Given the description of an element on the screen output the (x, y) to click on. 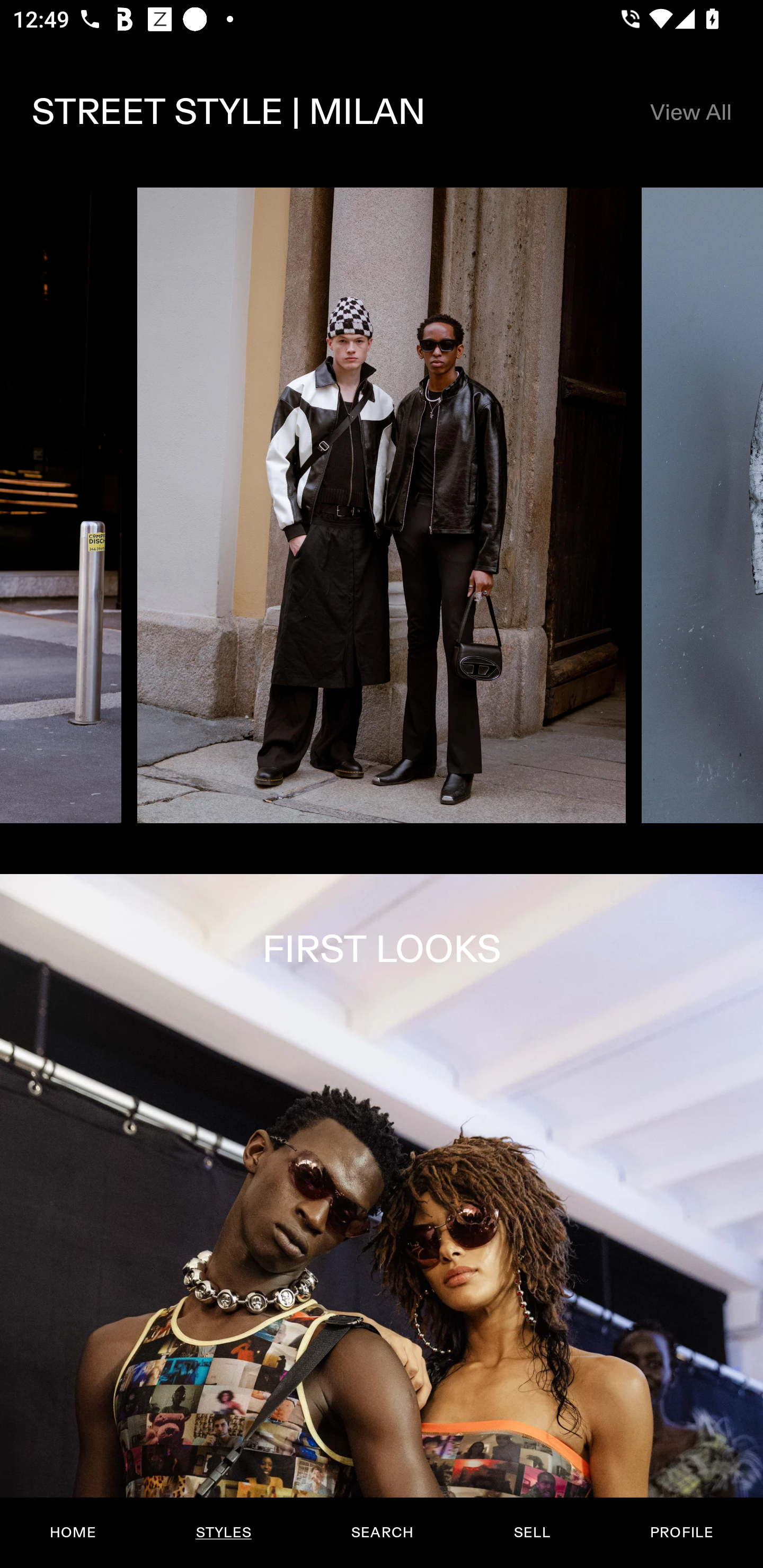
View All (690, 112)
FIRST LOOKS DIESEL FALL '24 (381, 1220)
HOME (72, 1532)
STYLES (222, 1532)
SEARCH (381, 1532)
SELL (531, 1532)
PROFILE (681, 1532)
